Given the description of an element on the screen output the (x, y) to click on. 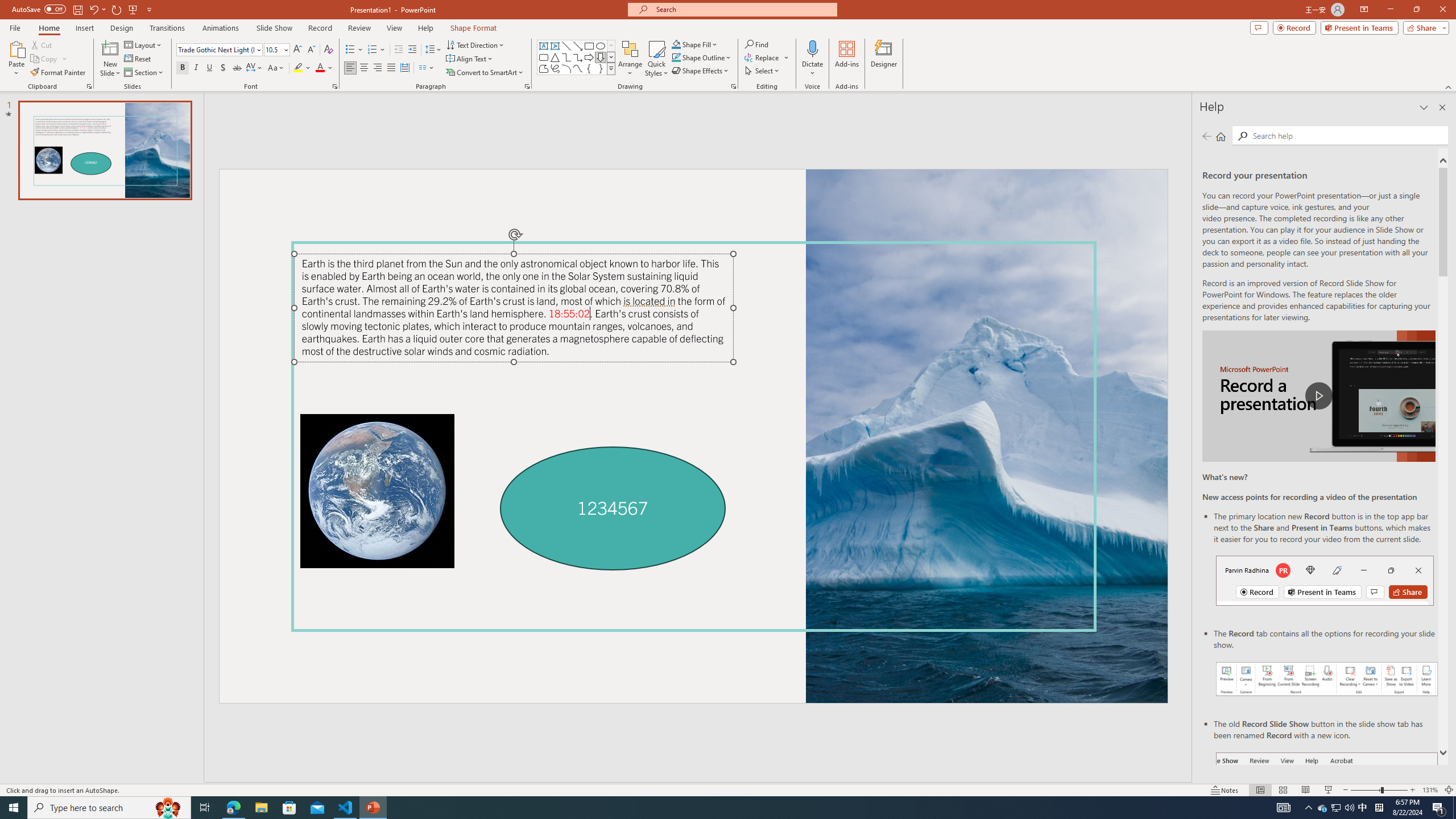
Right Brace (600, 68)
Task Pane Options (1423, 107)
Rectangle (589, 45)
Replace... (767, 56)
Layout (143, 44)
Paste (16, 48)
Center (363, 67)
Reset (138, 58)
Align Text (470, 58)
Office Clipboard... (88, 85)
Left Brace (589, 68)
